Given the description of an element on the screen output the (x, y) to click on. 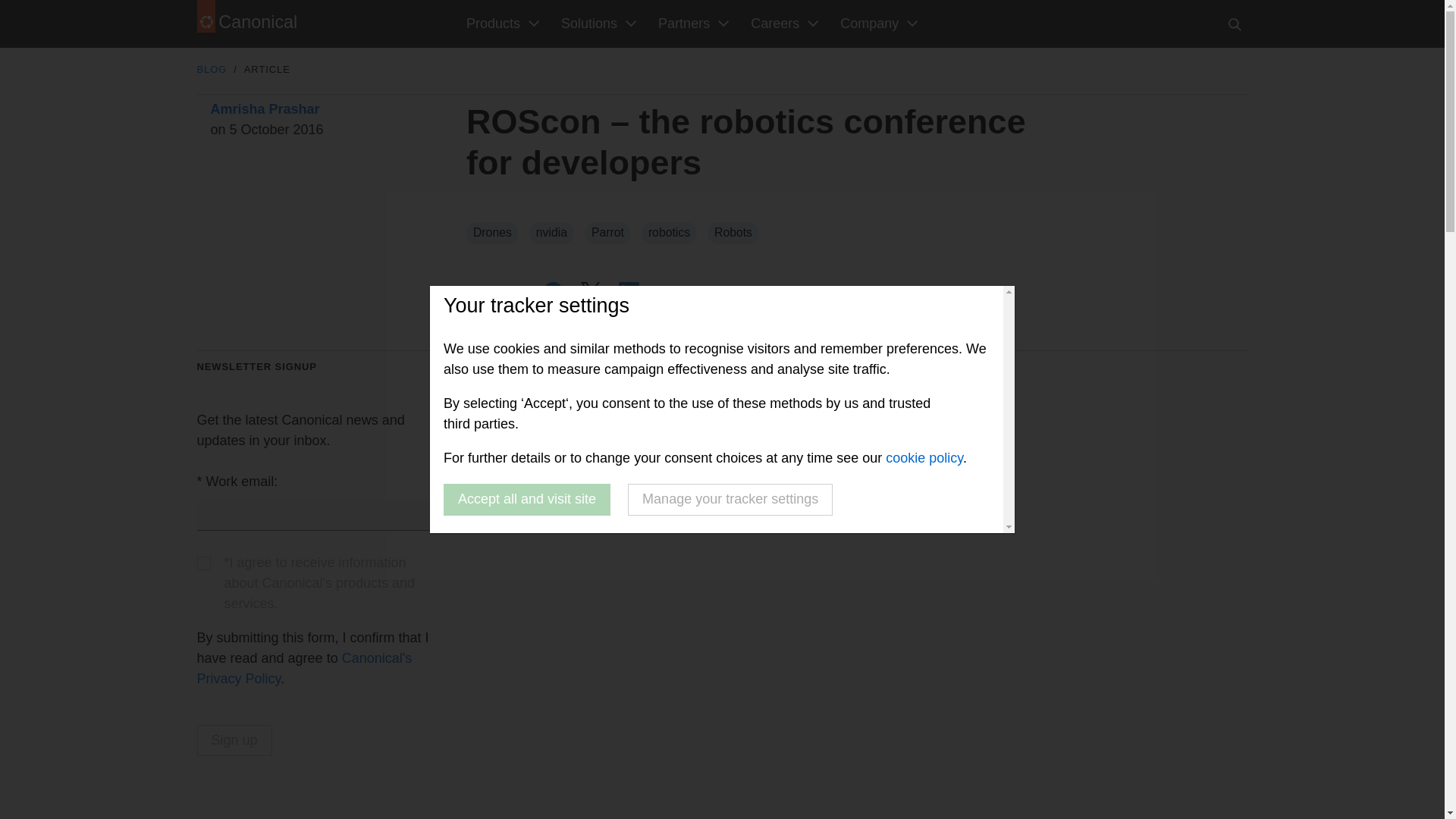
Products (499, 23)
More about Amrisha Prashar (265, 109)
Share on Twitter (590, 291)
Share on Facebook (553, 291)
Share on LinkedIn (628, 291)
Canonical (285, 23)
